Given the description of an element on the screen output the (x, y) to click on. 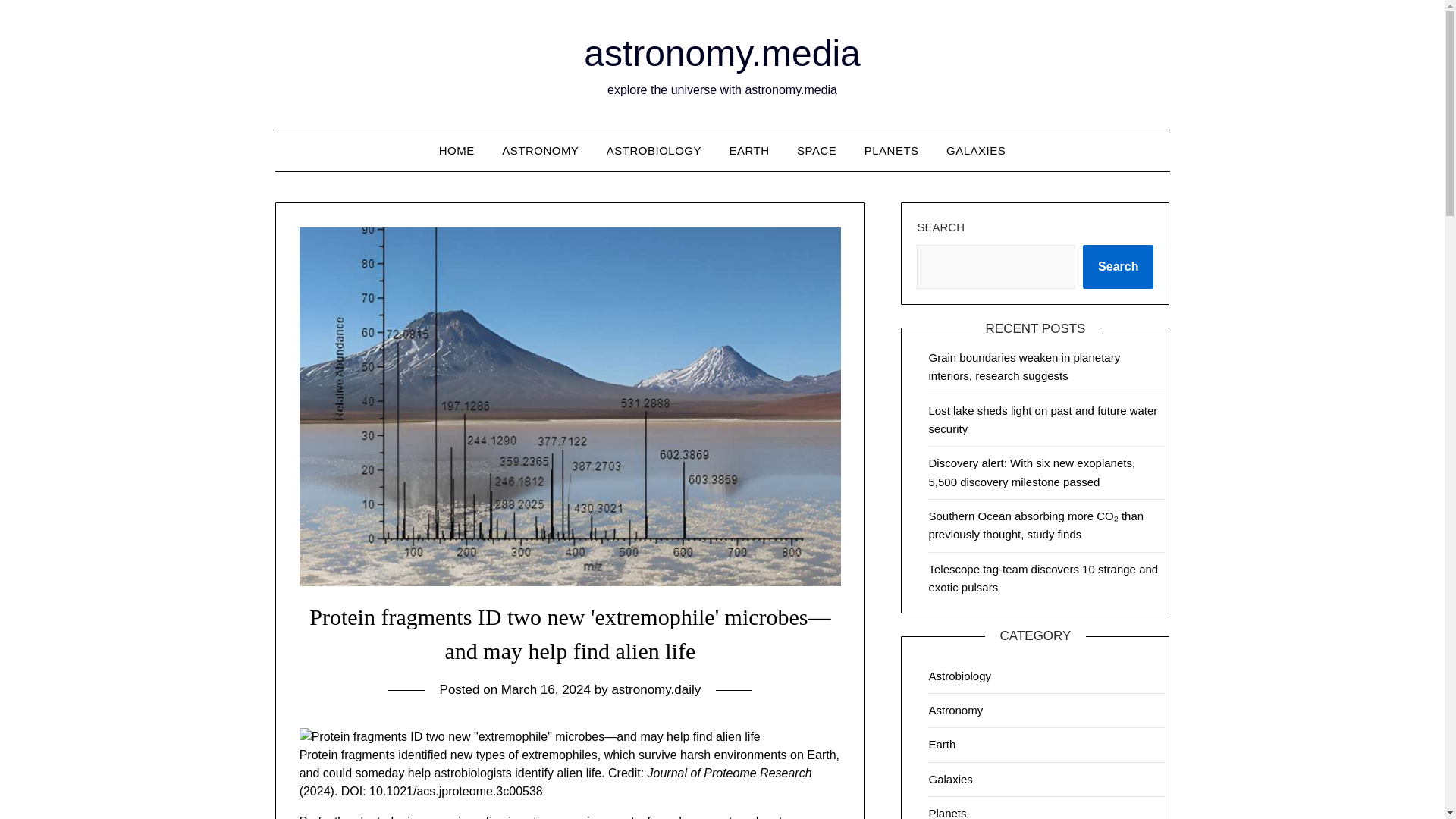
Search (1118, 266)
Astronomy (955, 709)
PLANETS (891, 150)
Telescope tag-team discovers 10 strange and exotic pulsars (1042, 577)
EARTH (749, 150)
astronomy.daily (655, 689)
SPACE (816, 150)
HOME (456, 150)
Planets (947, 812)
Earth (941, 744)
Lost lake sheds light on past and future water security (1042, 419)
Astrobiology (959, 675)
ASTRONOMY (540, 150)
